Given the description of an element on the screen output the (x, y) to click on. 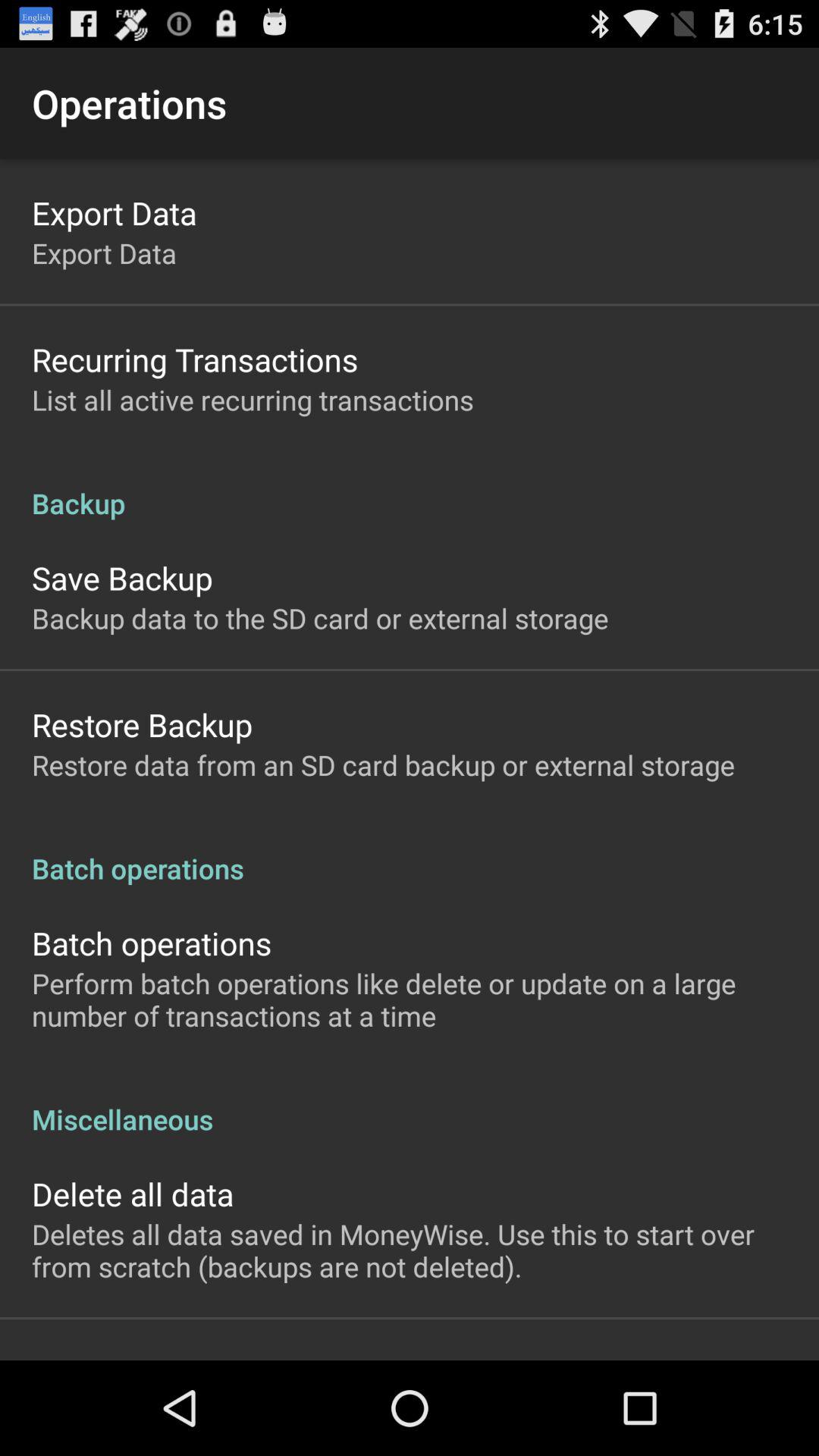
flip to the miscellaneous app (409, 1103)
